Given the description of an element on the screen output the (x, y) to click on. 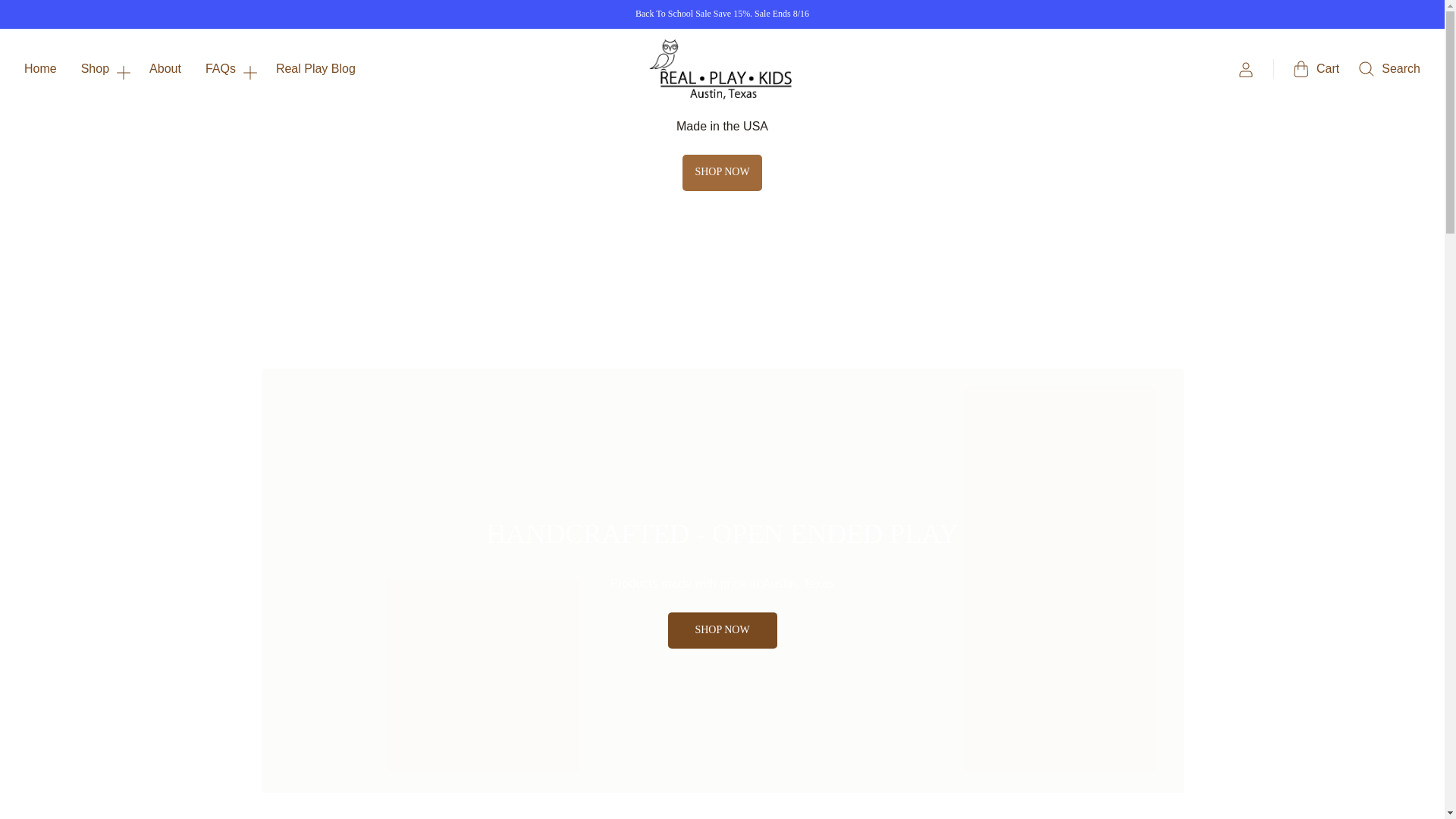
Real Play Blog (315, 68)
Home (40, 68)
Search (1388, 68)
Shop (103, 68)
About (164, 68)
Cart (1315, 68)
FAQs (228, 68)
